Given the description of an element on the screen output the (x, y) to click on. 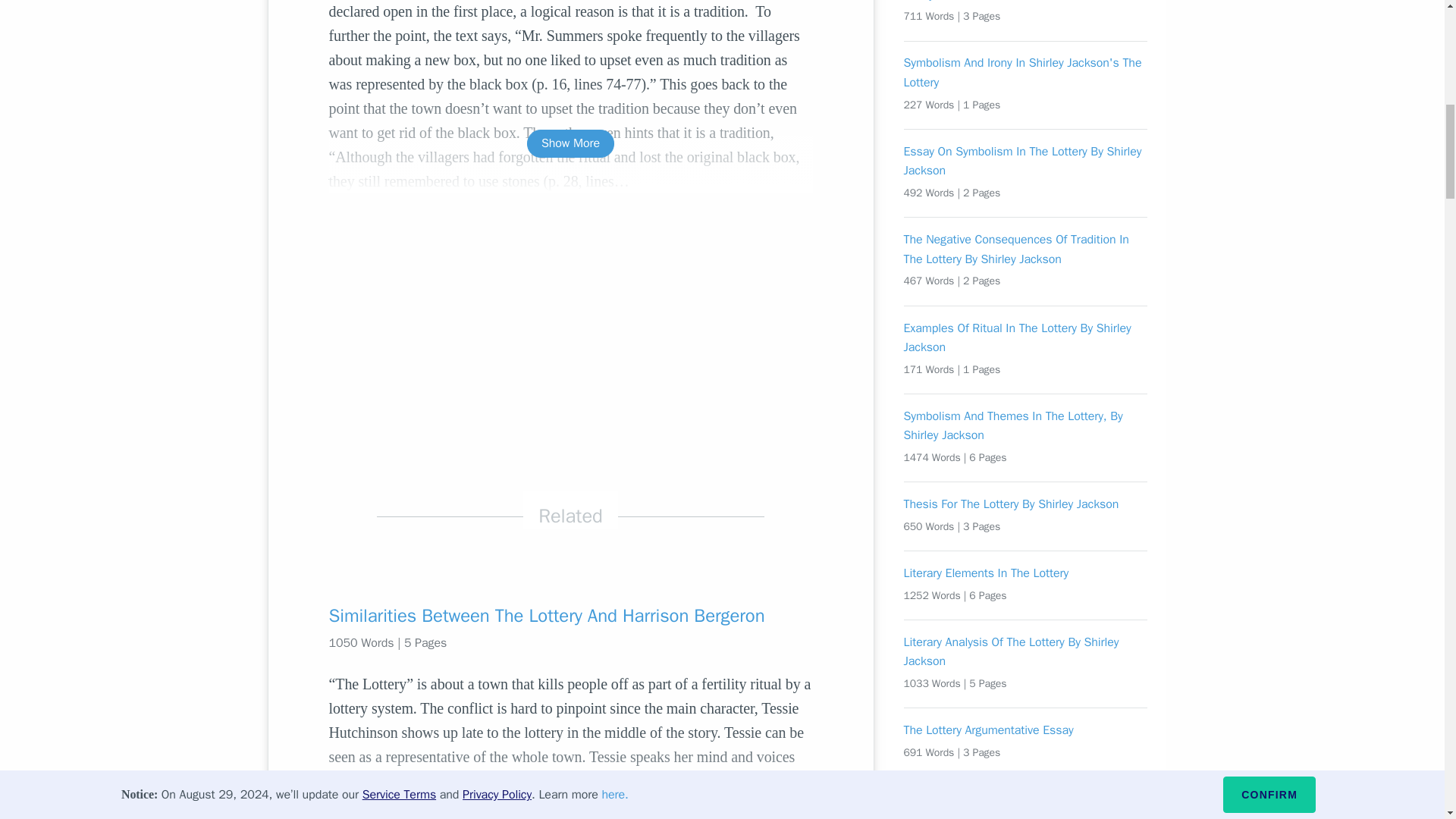
Read More (569, 791)
Show More (570, 143)
Similarities Between The Lottery And Harrison Bergeron (570, 615)
